Given the description of an element on the screen output the (x, y) to click on. 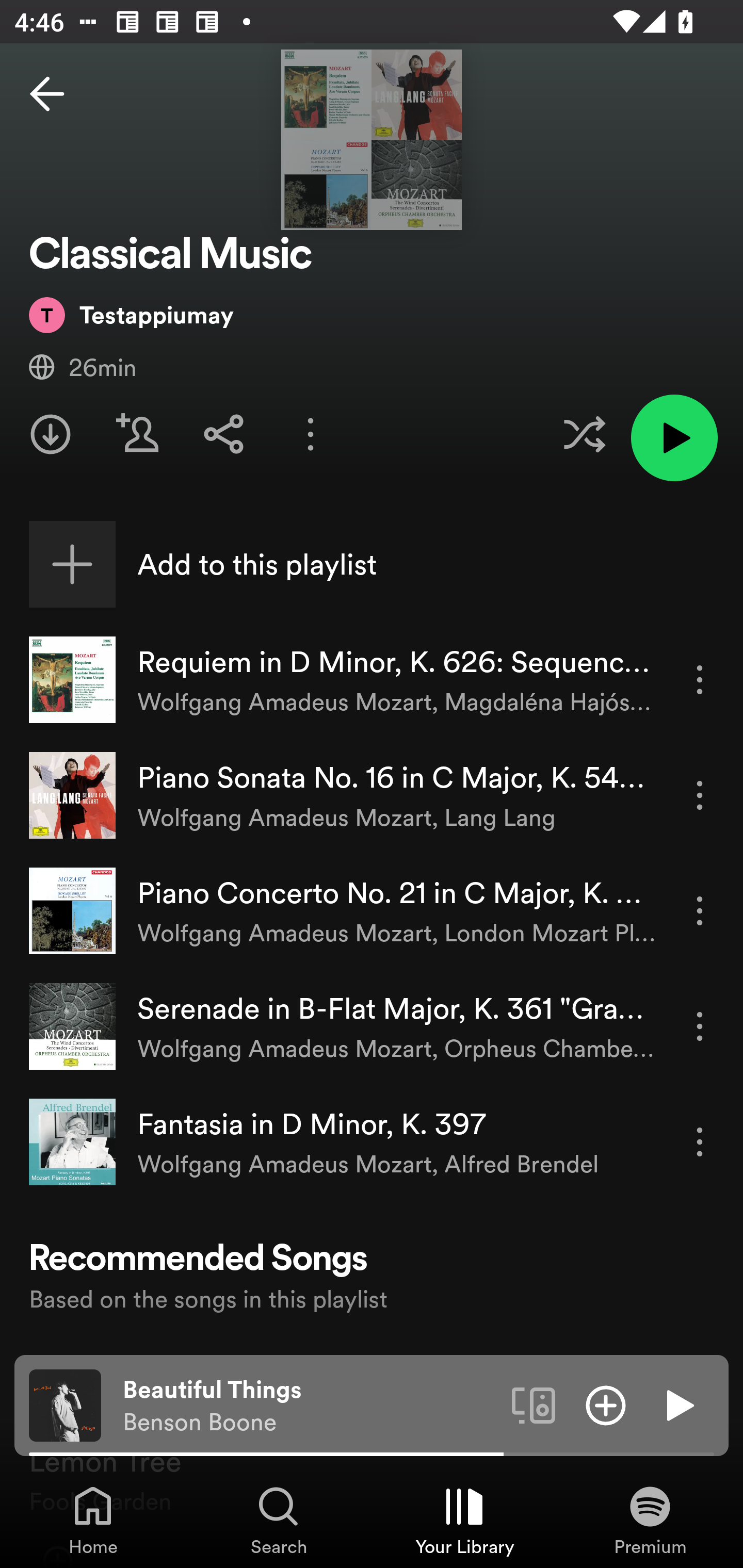
Back (46, 93)
Testappiumay (131, 314)
Download (50, 434)
Invite Friends for playlist (136, 434)
More options for playlist Classical Music (310, 434)
Enable shuffle for this playlist (583, 434)
Play playlist (674, 437)
Add to this playlist (371, 564)
More options for song Fantasia in D Minor, K. 397 (699, 1142)
Beautiful Things Benson Boone (309, 1405)
The cover art of the currently playing track (64, 1404)
Connect to a device. Opens the devices menu (533, 1404)
Add item (605, 1404)
Play (677, 1404)
Home, Tab 1 of 4 Home Home (92, 1519)
Search, Tab 2 of 4 Search Search (278, 1519)
Your Library, Tab 3 of 4 Your Library Your Library (464, 1519)
Premium, Tab 4 of 4 Premium Premium (650, 1519)
